Given the description of an element on the screen output the (x, y) to click on. 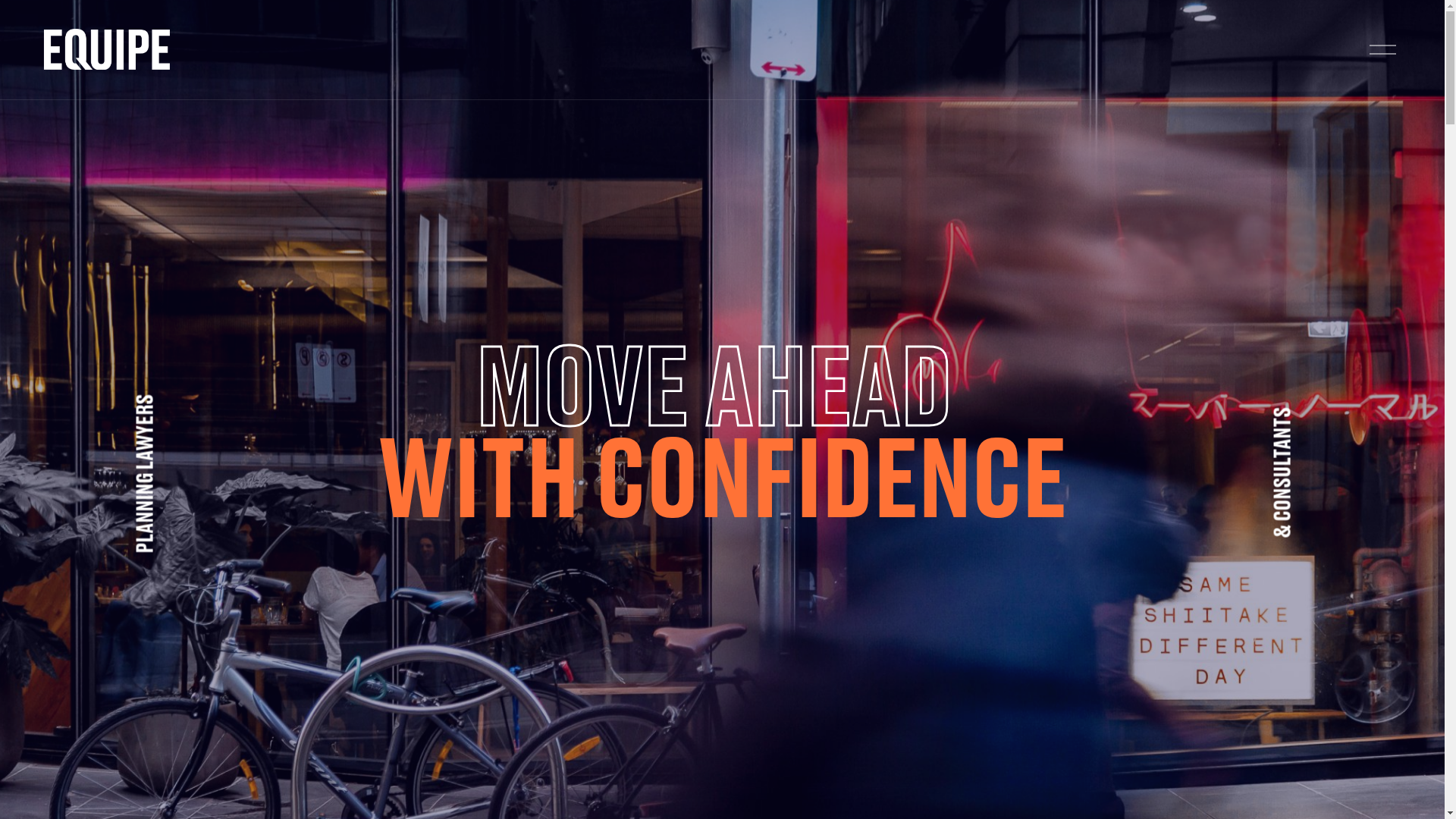
Open Menu Element type: text (1382, 49)
